Given the description of an element on the screen output the (x, y) to click on. 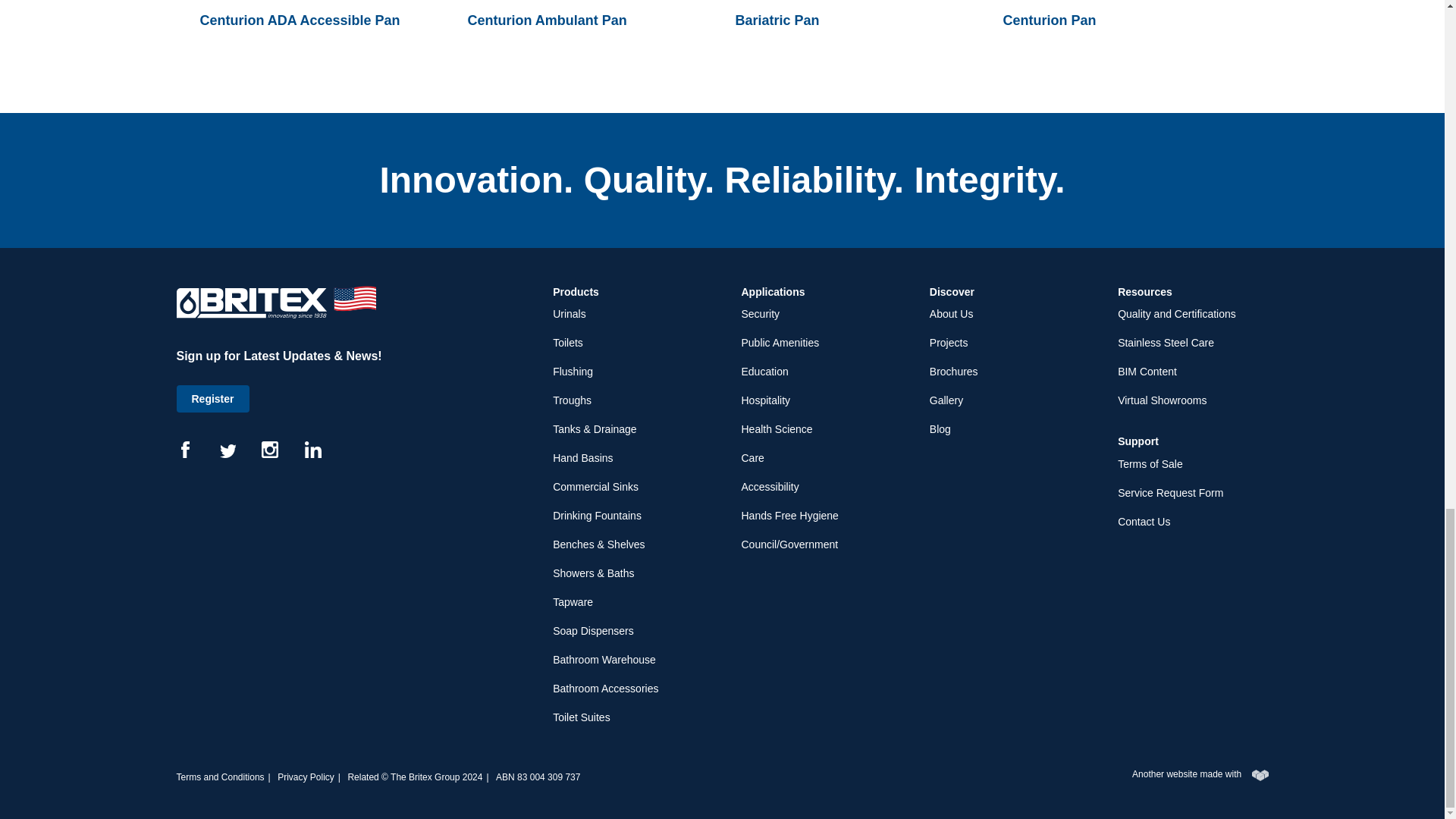
Britex (275, 301)
